Given the description of an element on the screen output the (x, y) to click on. 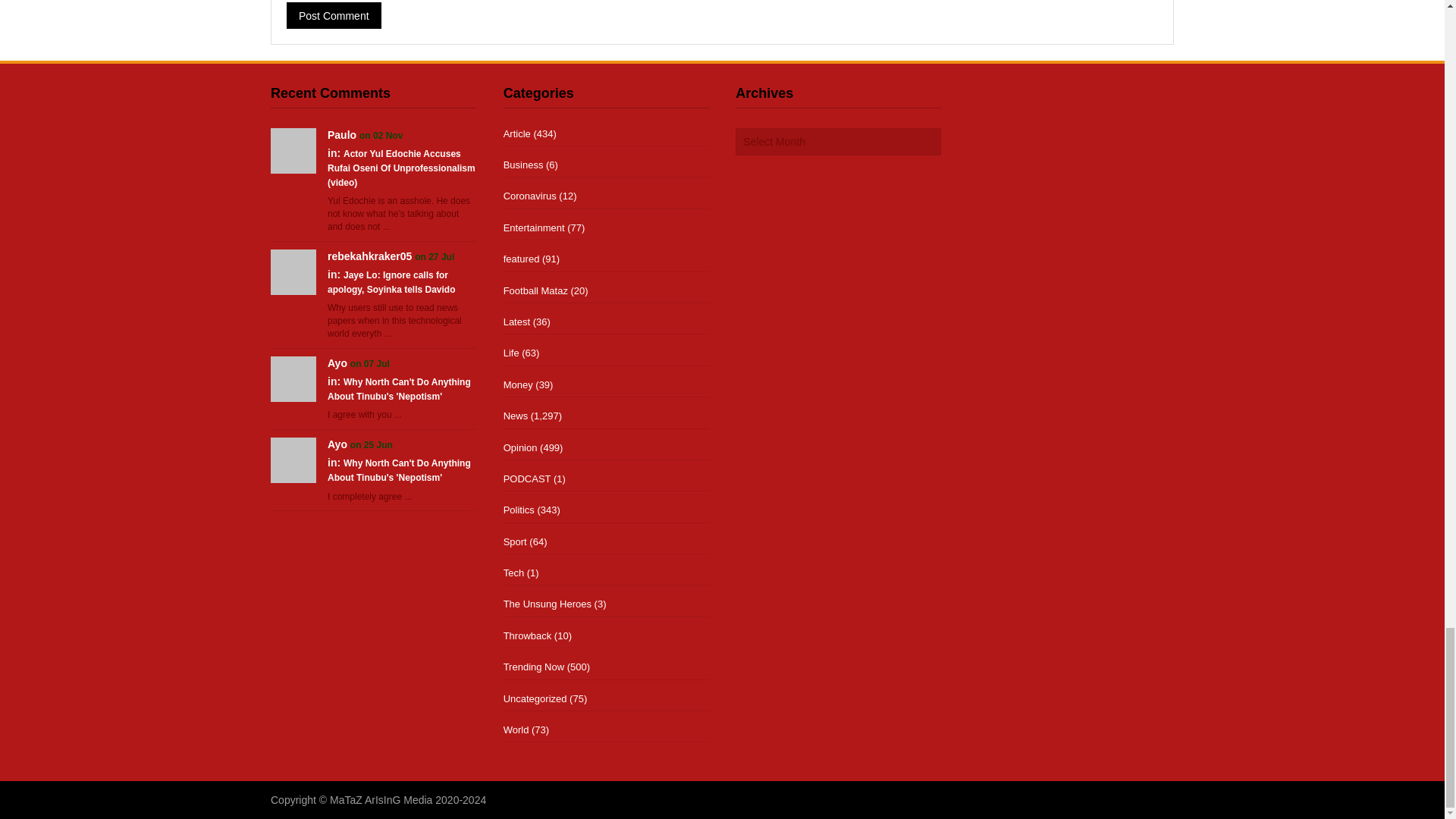
Ayo on Why North Can't Do Anything About Tinubu's 'Nepotism' (292, 460)
Ayo on Why North Can't Do Anything About Tinubu's 'Nepotism' (292, 378)
Ayo on Why North Can't Do Anything About Tinubu's 'Nepotism' (337, 444)
Post Comment (333, 15)
Ayo on Why North Can't Do Anything About Tinubu's 'Nepotism' (337, 363)
